Given the description of an element on the screen output the (x, y) to click on. 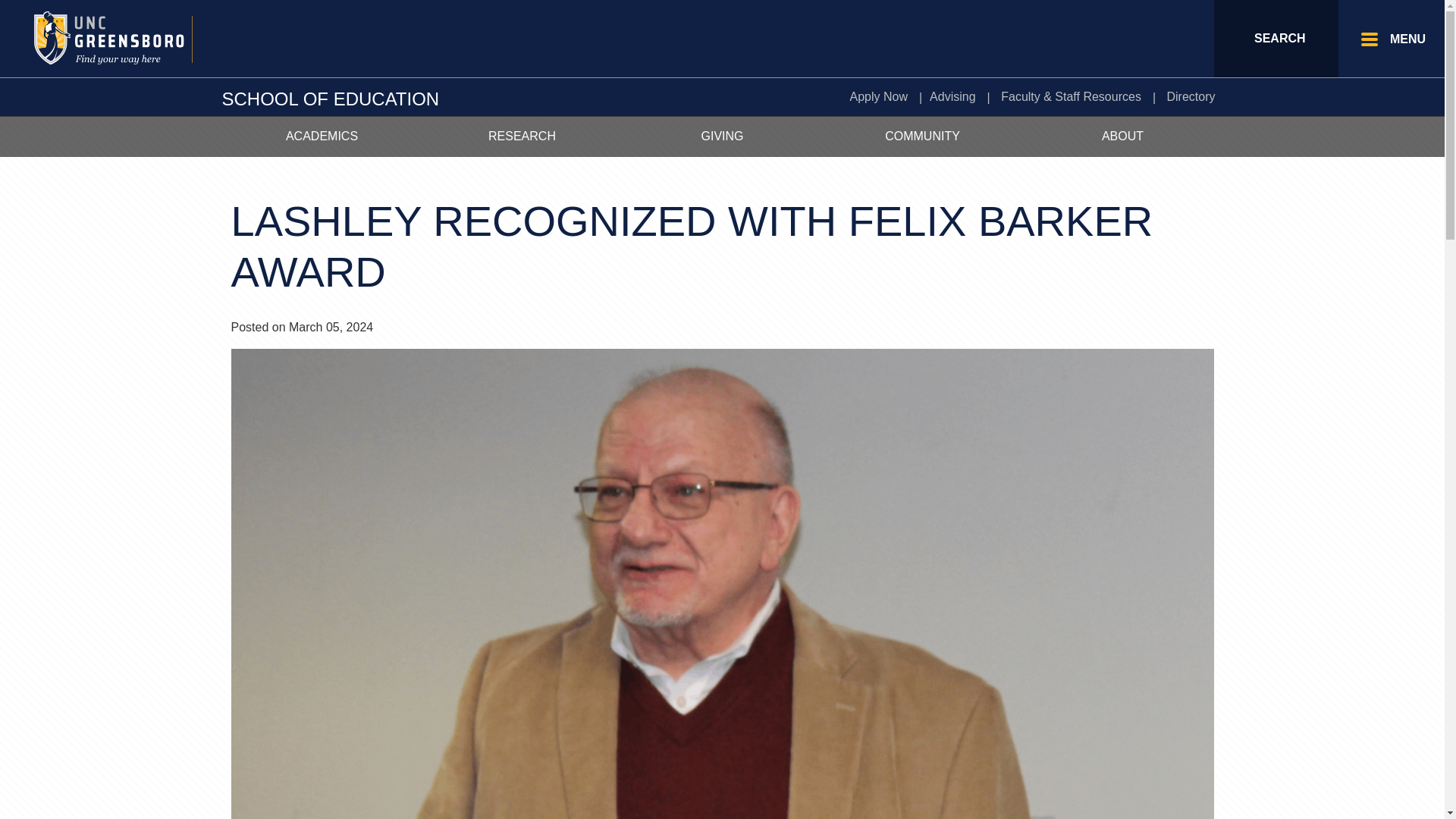
Apply Now (877, 96)
UNC Greensboro (131, 37)
Search (1276, 38)
